Given the description of an element on the screen output the (x, y) to click on. 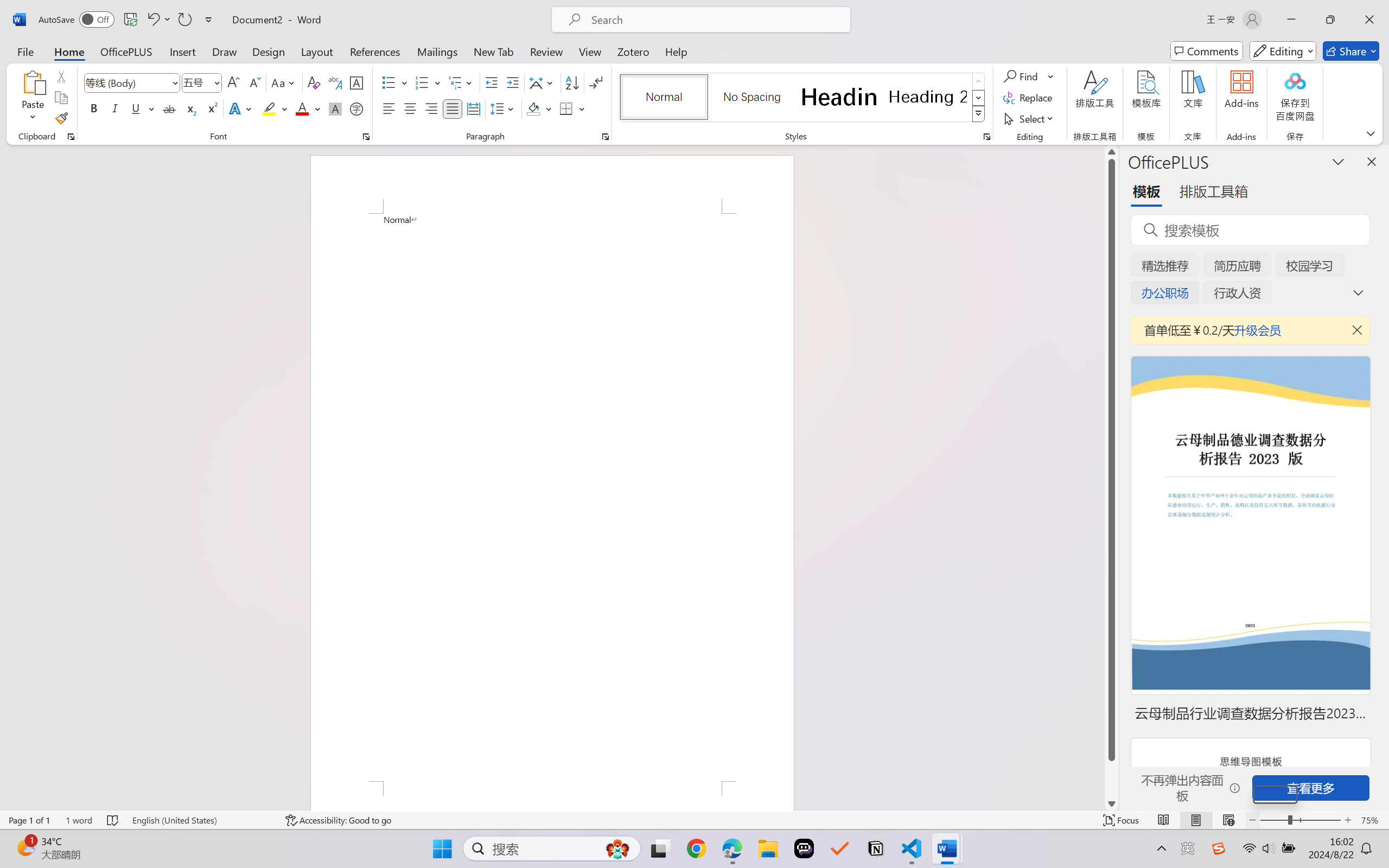
Enclose Characters... (356, 108)
Task Pane Options (1338, 161)
Numbering (428, 82)
Font Color Red (302, 108)
Zoom Out (1273, 819)
Character Shading (334, 108)
OfficePLUS (126, 51)
Zoom In (1348, 819)
Office Clipboard... (70, 136)
AutomationID: BadgeAnchorLargeTicker (24, 847)
Mode (1283, 50)
Repeat Doc Close (184, 19)
Print Layout (1196, 819)
